Given the description of an element on the screen output the (x, y) to click on. 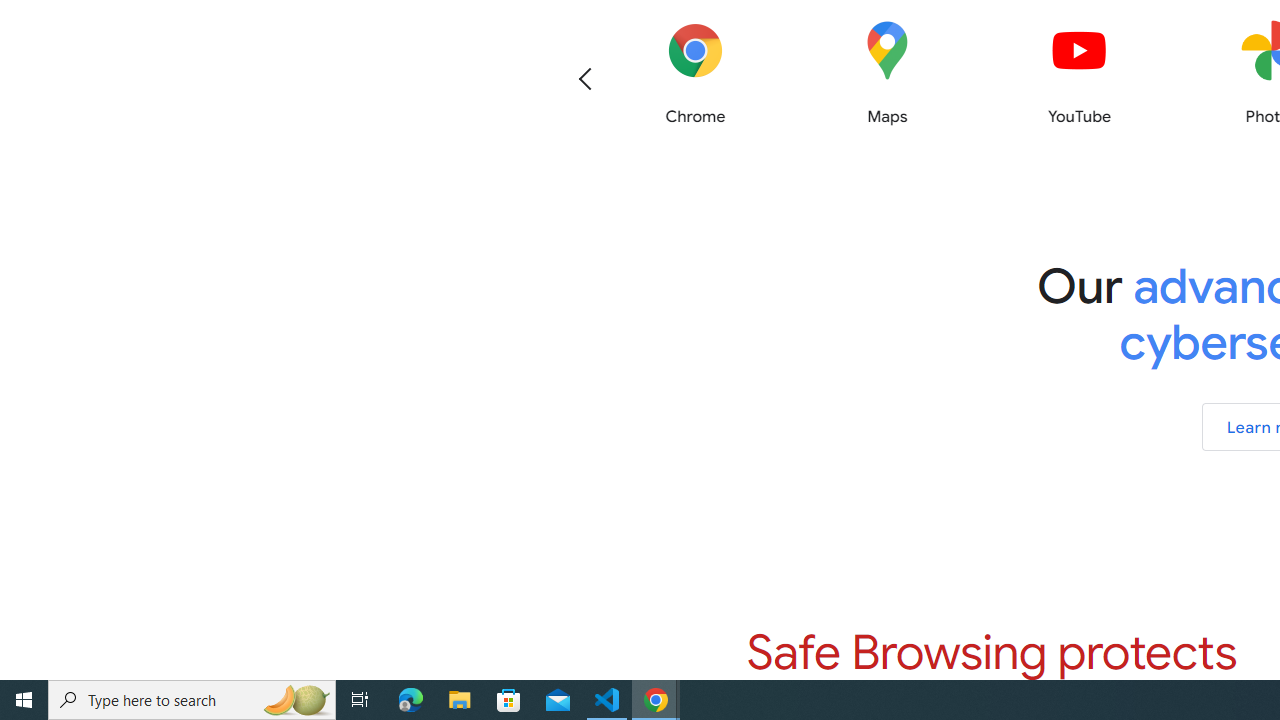
Previous (585, 78)
